Given the description of an element on the screen output the (x, y) to click on. 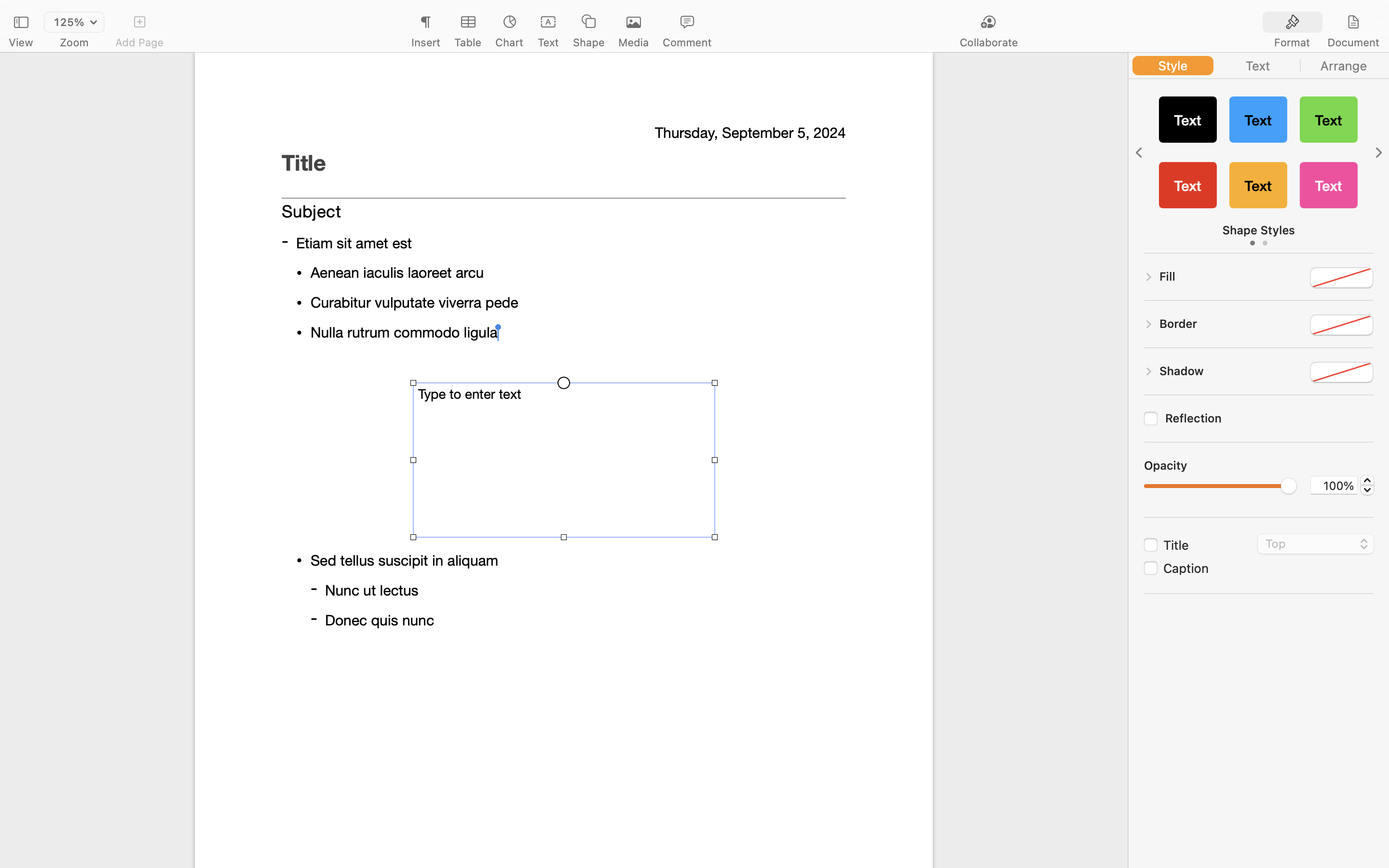
<AXUIElement 0x28b925910> {pid=1482} Element type: AXGroup (1322, 22)
Learn More Element type: AXStaticText (562, 309)
Opacity Element type: AXStaticText (1165, 465)
Shadow Element type: AXStaticText (1181, 370)
